Given the description of an element on the screen output the (x, y) to click on. 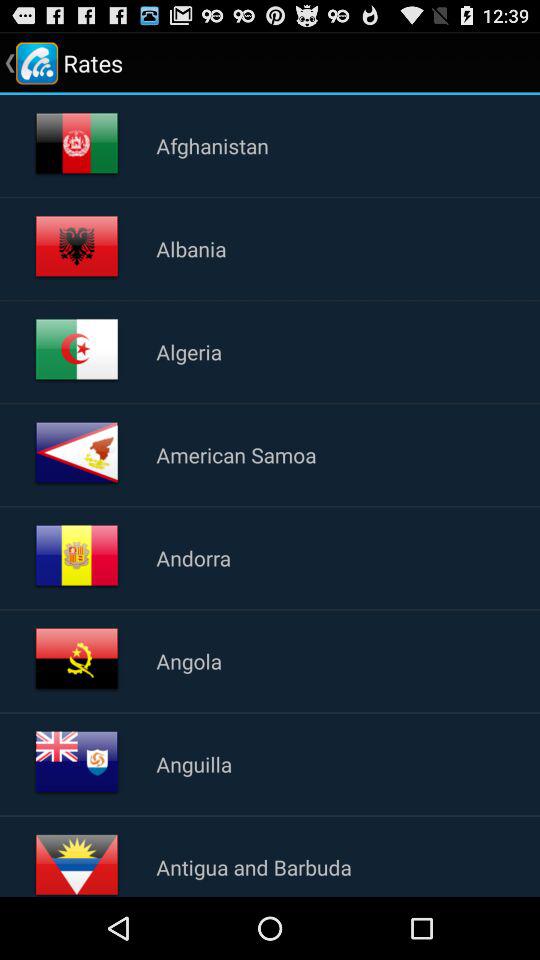
tap the angola item (189, 660)
